Given the description of an element on the screen output the (x, y) to click on. 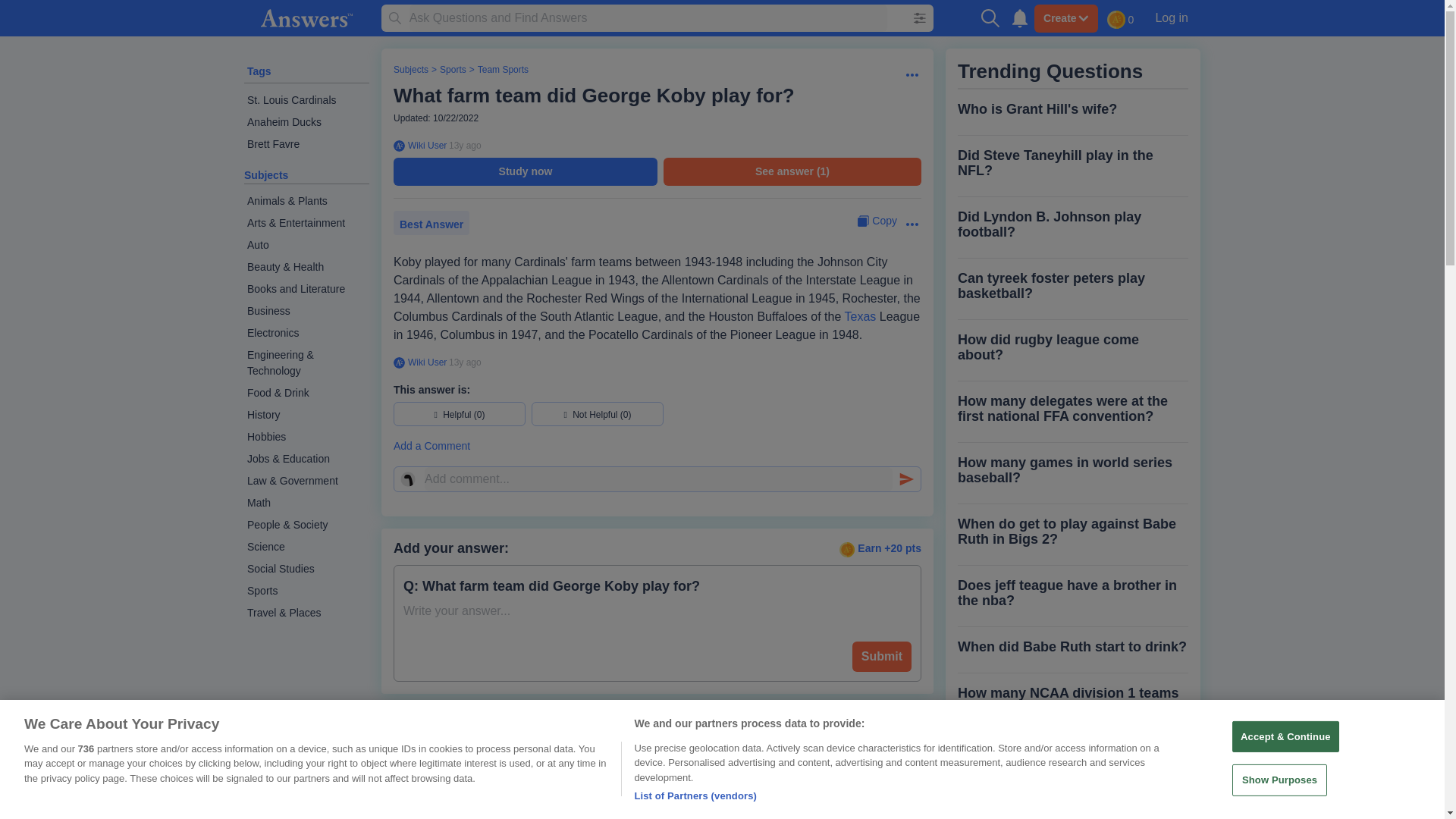
Subjects (266, 174)
Sports (306, 590)
Log in (1170, 17)
Science (306, 546)
Tags (258, 70)
Subjects (410, 69)
Math (306, 503)
Business (306, 311)
Team Sports (502, 69)
Sports (452, 69)
2010-09-08 02:34:02 (464, 145)
2010-09-08 02:34:02 (464, 362)
History (306, 414)
Create (1065, 18)
Books and Literature (306, 289)
